Given the description of an element on the screen output the (x, y) to click on. 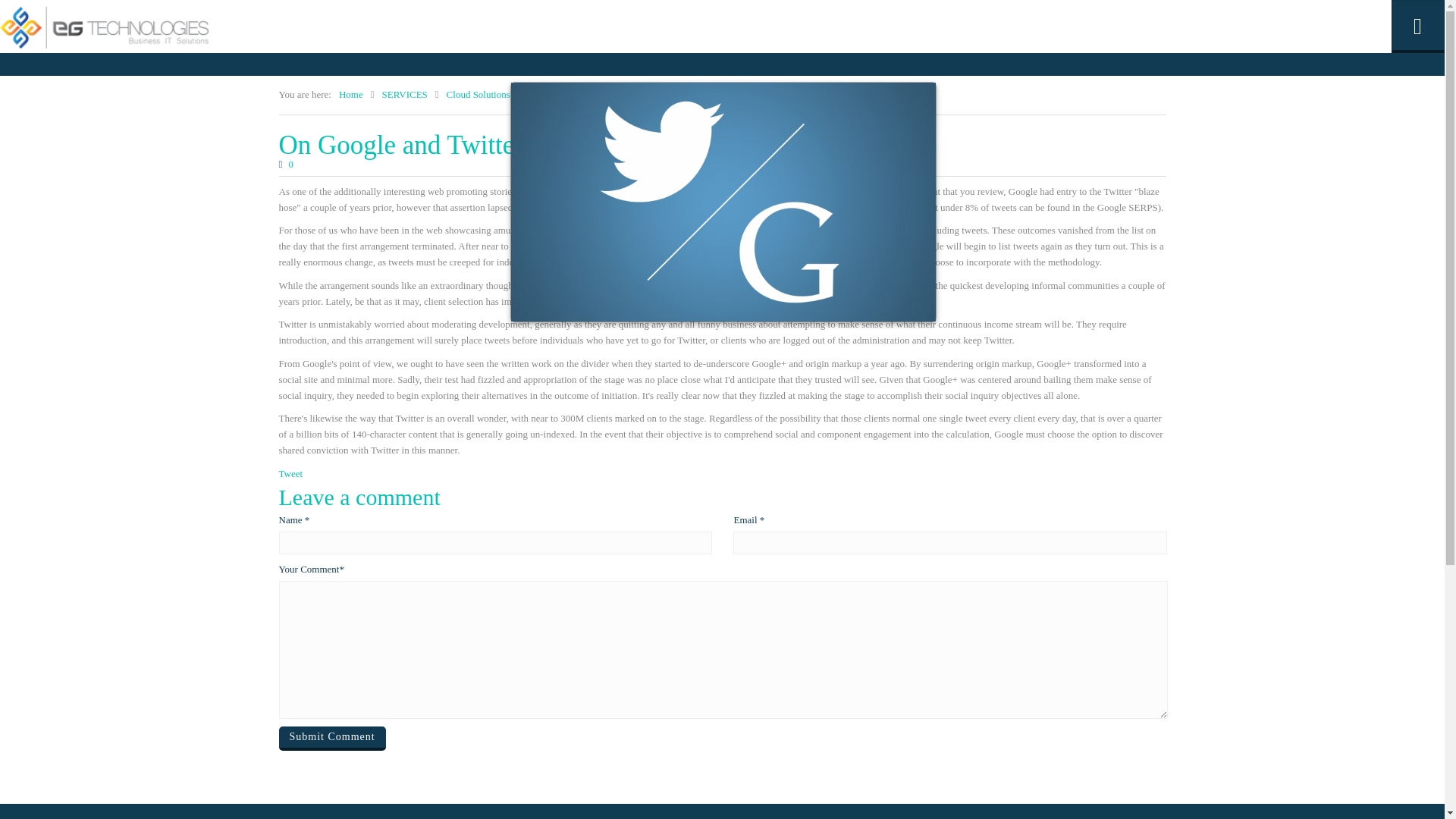
Home (350, 94)
Submit Comment (332, 738)
Tweet (290, 473)
Click to preview image (722, 201)
Submit Comment (332, 738)
Technologies (554, 94)
SERVICES (403, 94)
Cloud Solutions (478, 94)
